Given the description of an element on the screen output the (x, y) to click on. 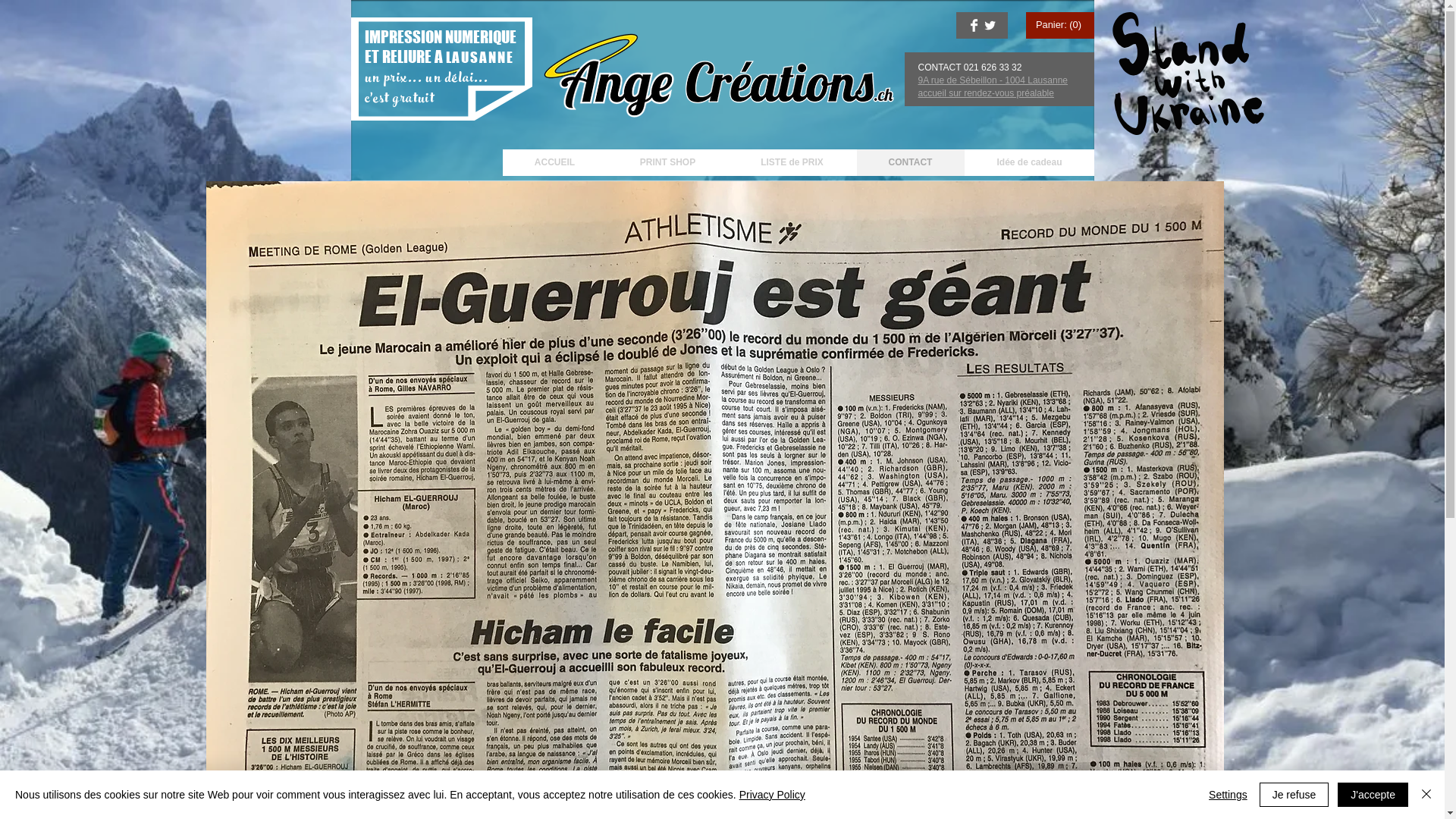
LISTE de PRIX Element type: text (792, 162)
J'accepte Element type: text (1372, 794)
ACCUEIL Element type: text (554, 162)
Je refuse Element type: text (1294, 794)
PRINT SHOP Element type: text (666, 162)
Privacy Policy Element type: text (772, 794)
Panier: (0) Element type: text (1061, 24)
CONTACT Element type: text (909, 162)
